Given the description of an element on the screen output the (x, y) to click on. 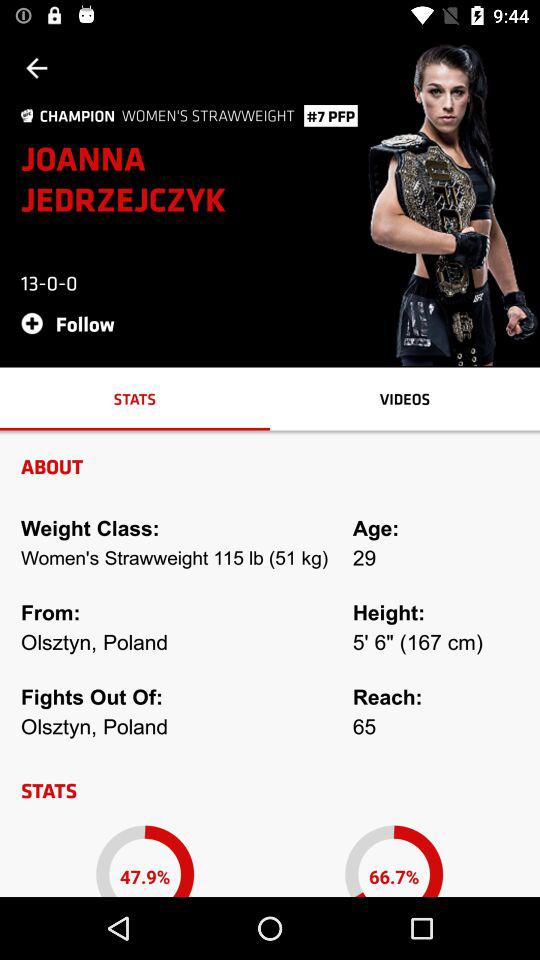
go back (36, 68)
